Given the description of an element on the screen output the (x, y) to click on. 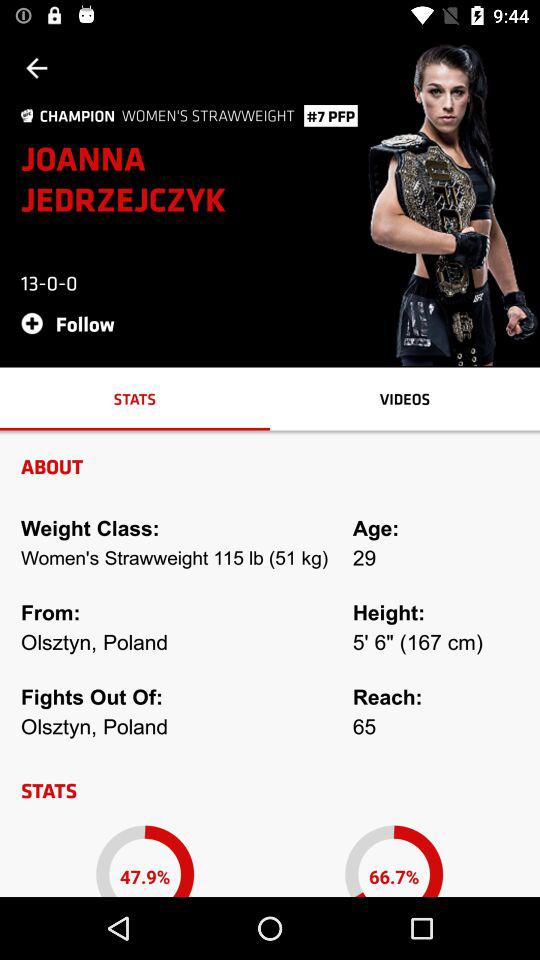
go back (36, 68)
